Given the description of an element on the screen output the (x, y) to click on. 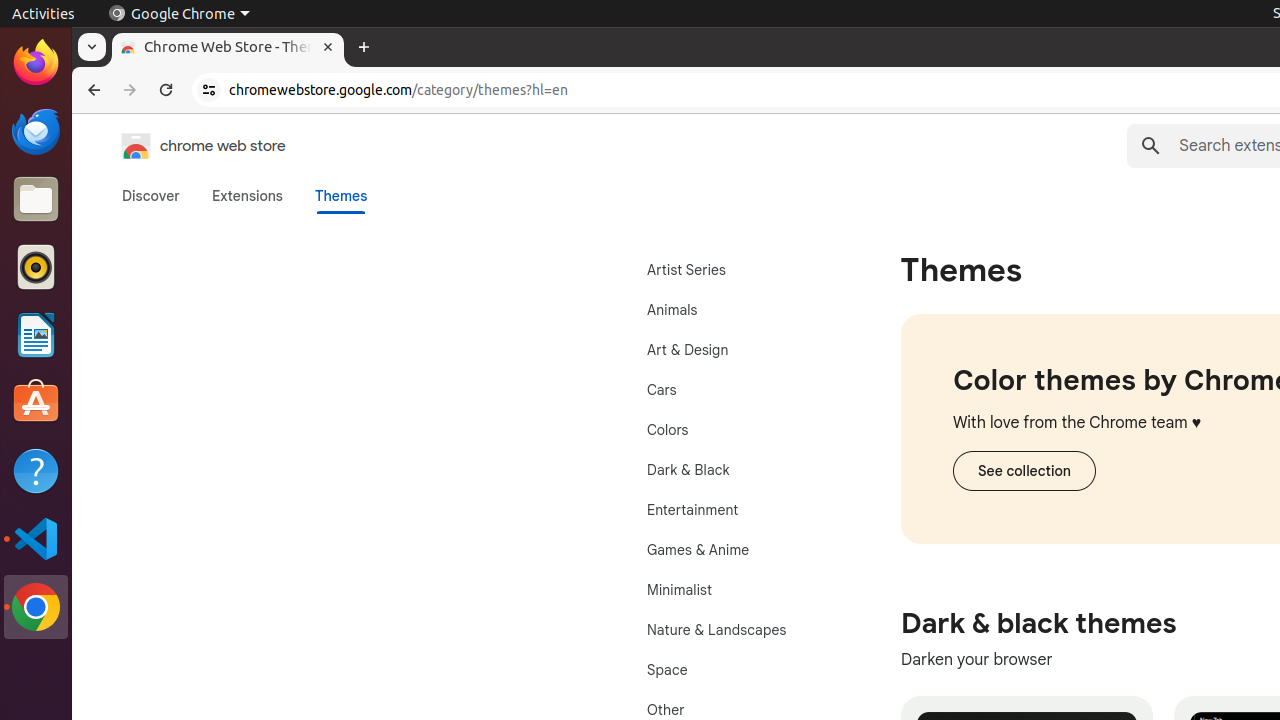
LibreOffice Writer Element type: push-button (36, 334)
Back Element type: push-button (91, 90)
Discover Element type: page-tab (151, 196)
Reload Element type: push-button (166, 90)
Minimalist Element type: menu-item (737, 590)
